Given the description of an element on the screen output the (x, y) to click on. 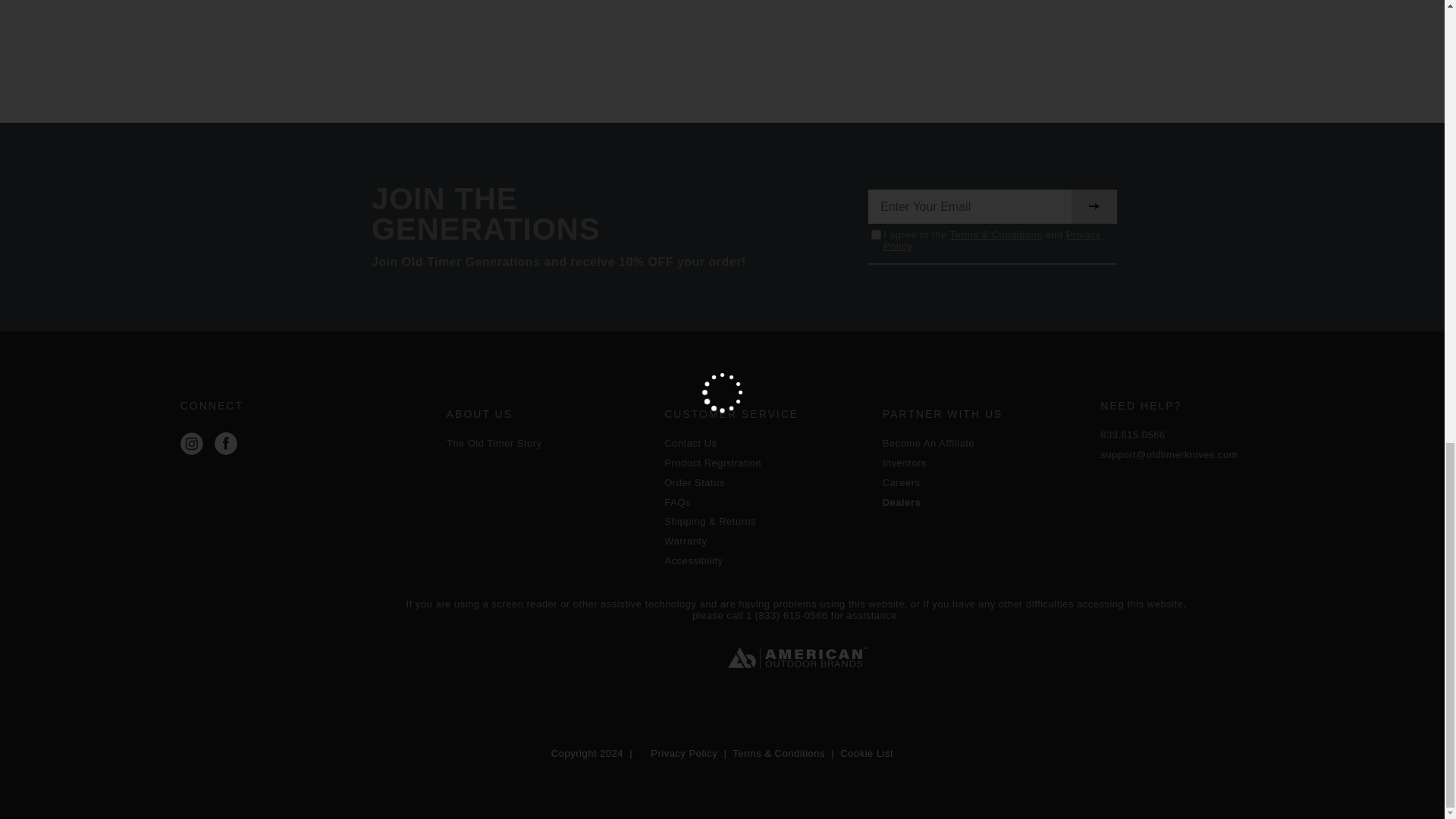
The Old Timer Story (547, 442)
Product Registration (765, 462)
CUSTOMER SERVICE (765, 413)
on (875, 234)
Privacy Policy (991, 240)
SUBSCRIBE (1093, 206)
Order Status (765, 482)
FAQs (765, 501)
Contact Us (765, 442)
ABOUT US (547, 413)
